Given the description of an element on the screen output the (x, y) to click on. 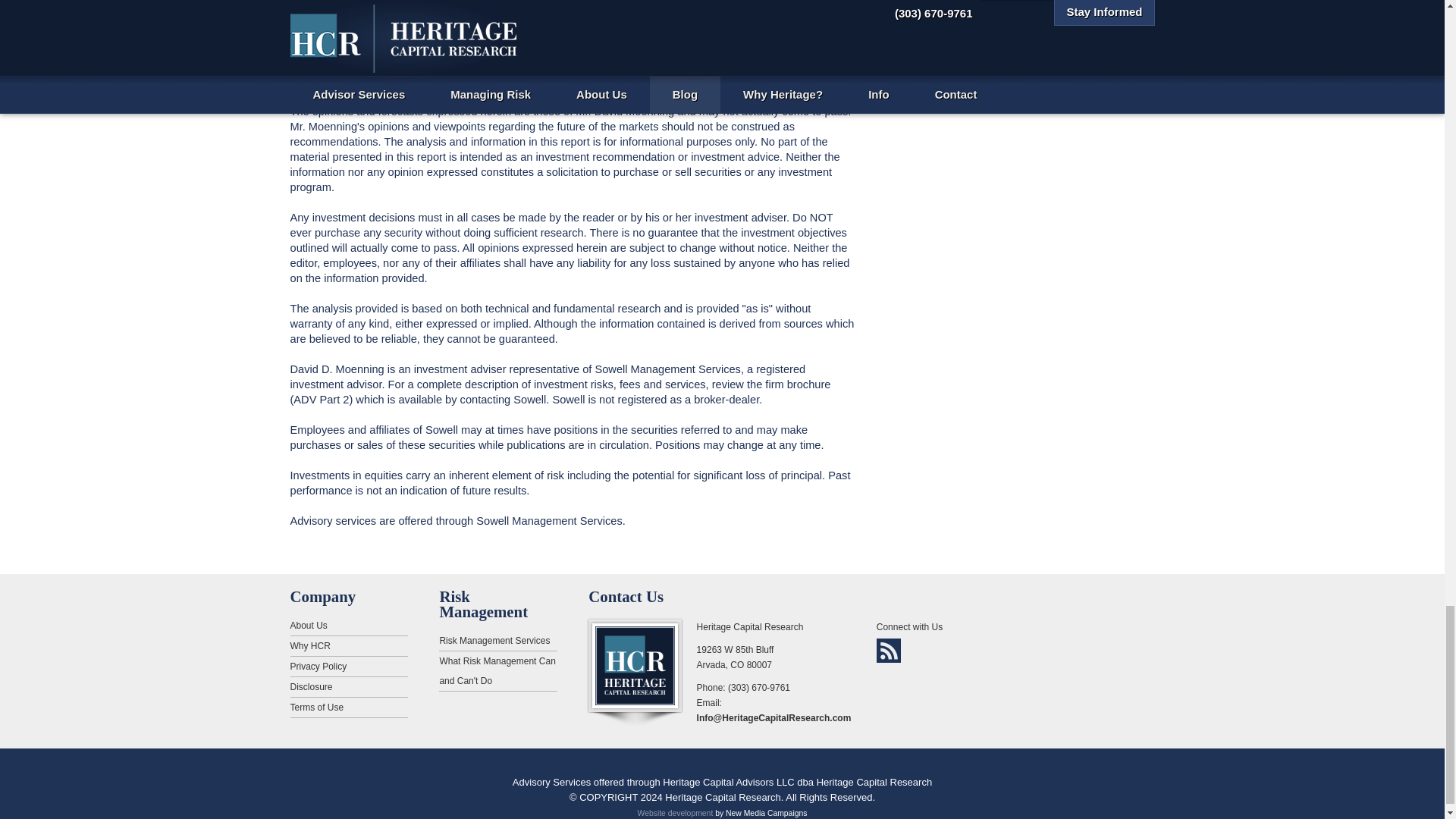
RSS (888, 650)
Disclosure (348, 687)
Website development (675, 813)
What Risk Management Can and Can't Do (497, 671)
About Us (348, 625)
Terms of Use (348, 707)
Risk Management Services (497, 640)
Privacy Policy (348, 666)
Why HCR (348, 646)
